Given the description of an element on the screen output the (x, y) to click on. 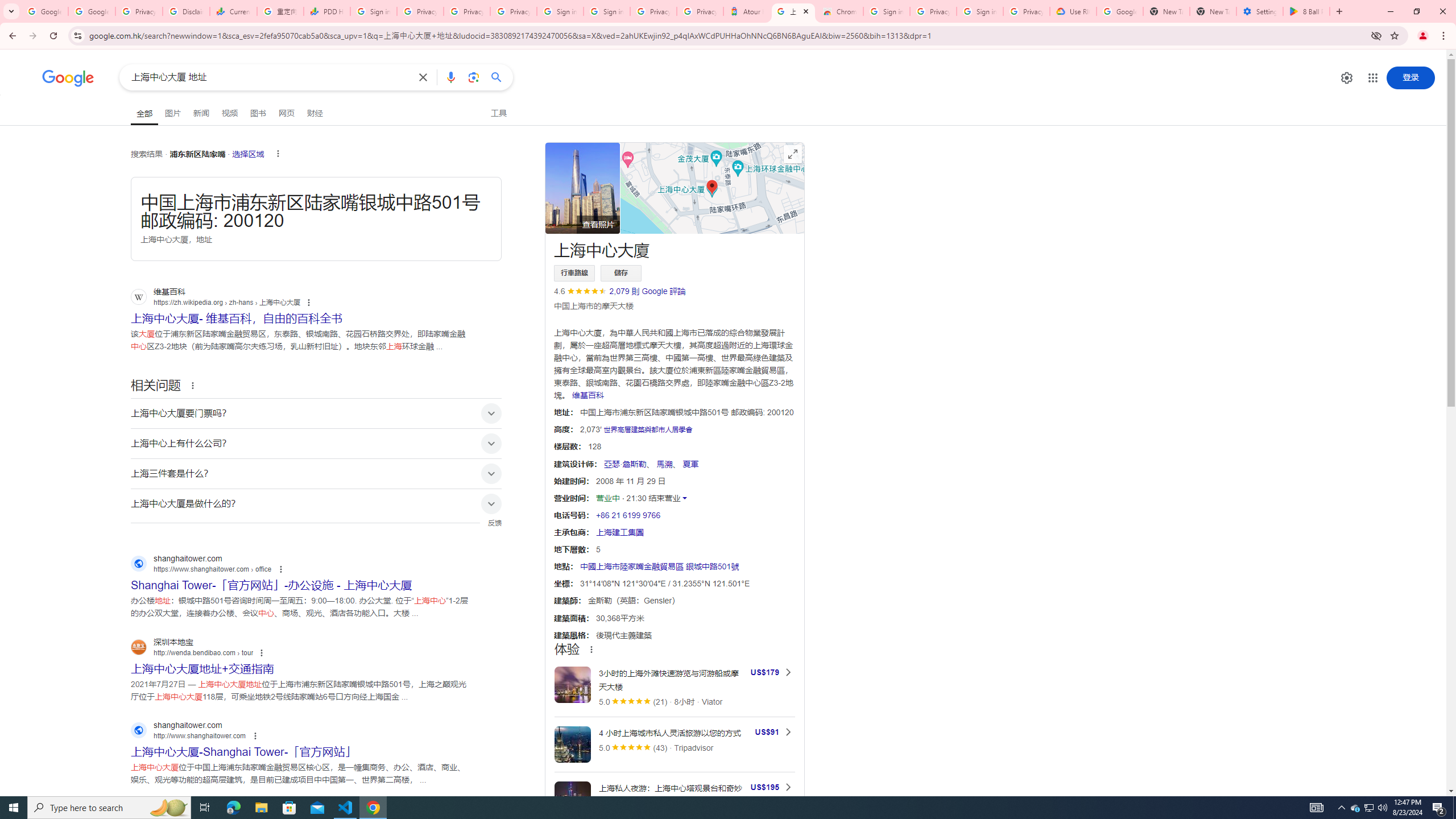
Sign in - Google Accounts (980, 11)
Privacy Checkup (512, 11)
Sign in - Google Accounts (606, 11)
